Given the description of an element on the screen output the (x, y) to click on. 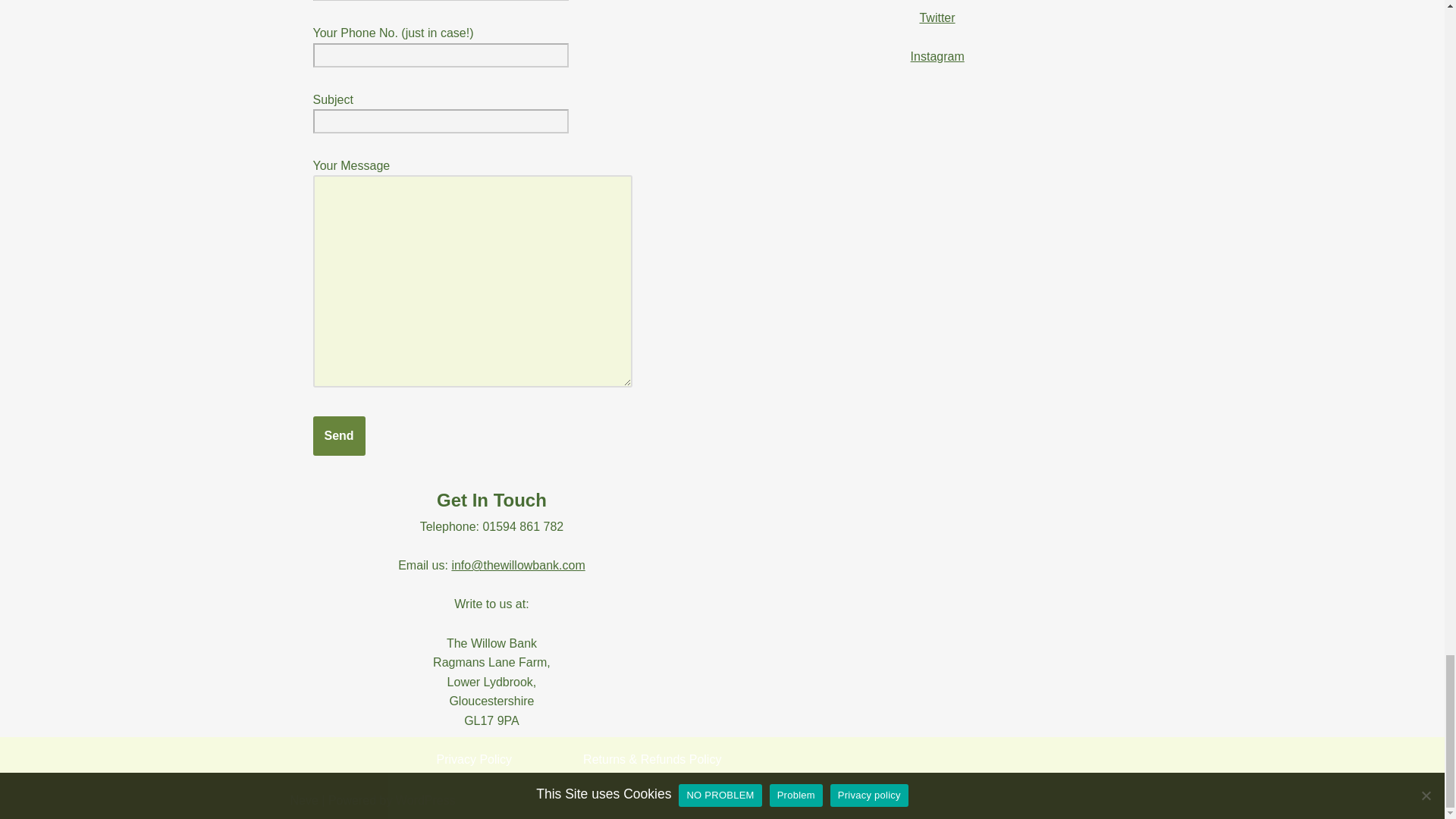
Send (339, 435)
